Given the description of an element on the screen output the (x, y) to click on. 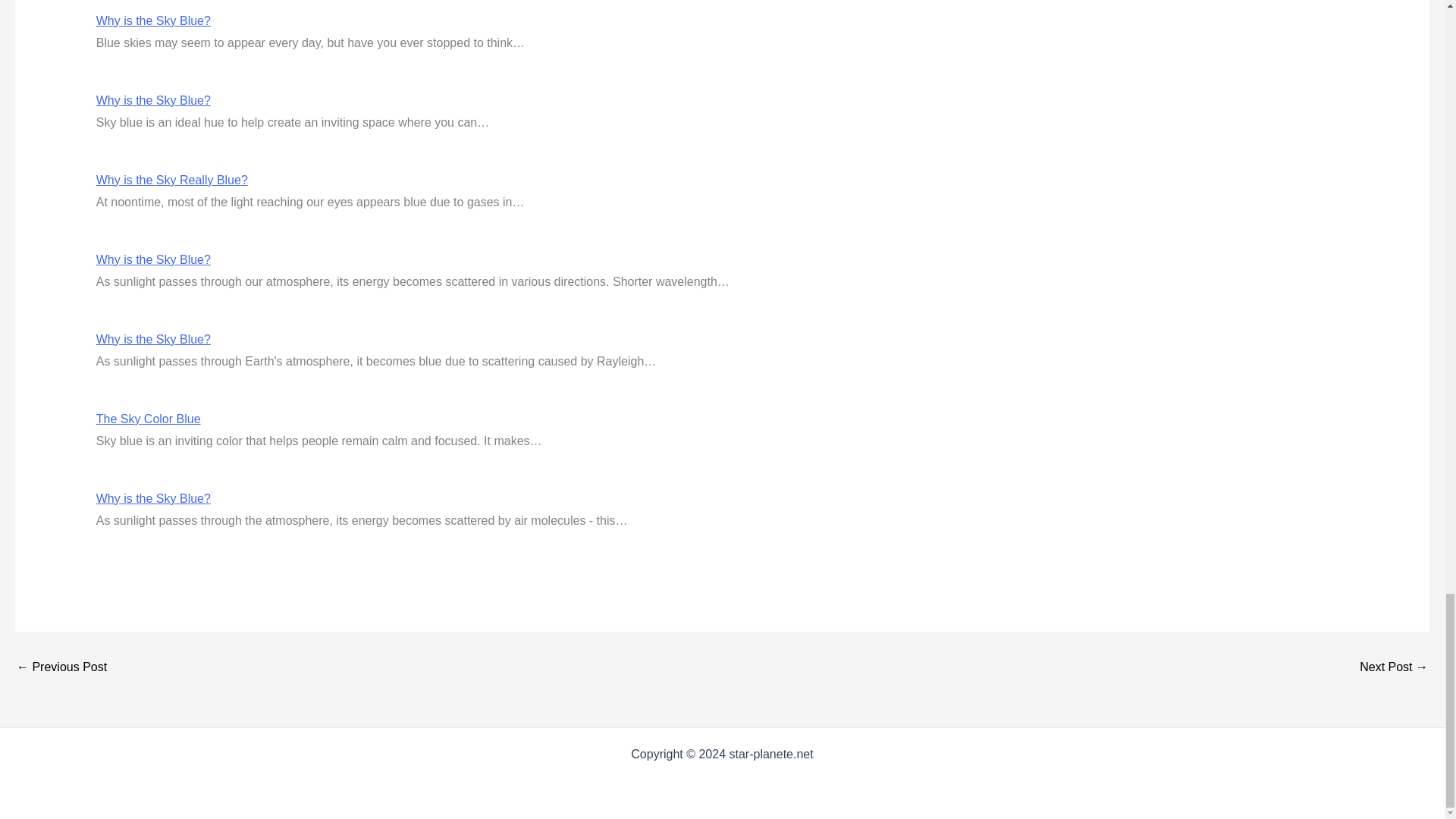
Facts About the Ocean For Preschoolers (1393, 666)
Spacecraft Missions (61, 666)
